Given the description of an element on the screen output the (x, y) to click on. 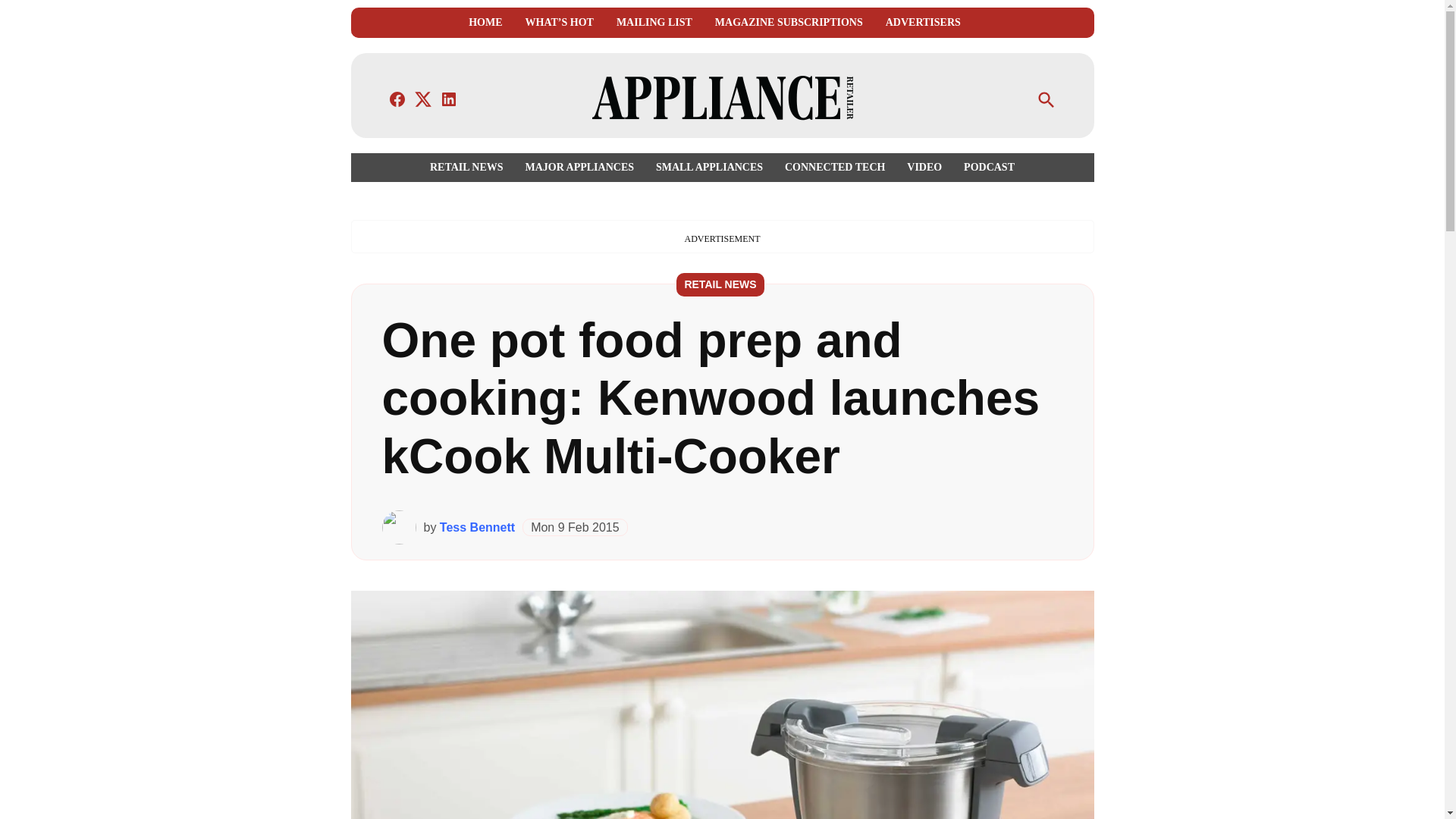
PODCAST (985, 167)
ADVERTISERS (922, 22)
VIDEO (924, 167)
FACEBOOK (397, 99)
Appliance Retailer (983, 109)
MAJOR APPLIANCES (579, 167)
LINKEDIN (448, 99)
RETAIL NEWS (720, 284)
MAGAZINE SUBSCRIPTIONS (788, 22)
